Given the description of an element on the screen output the (x, y) to click on. 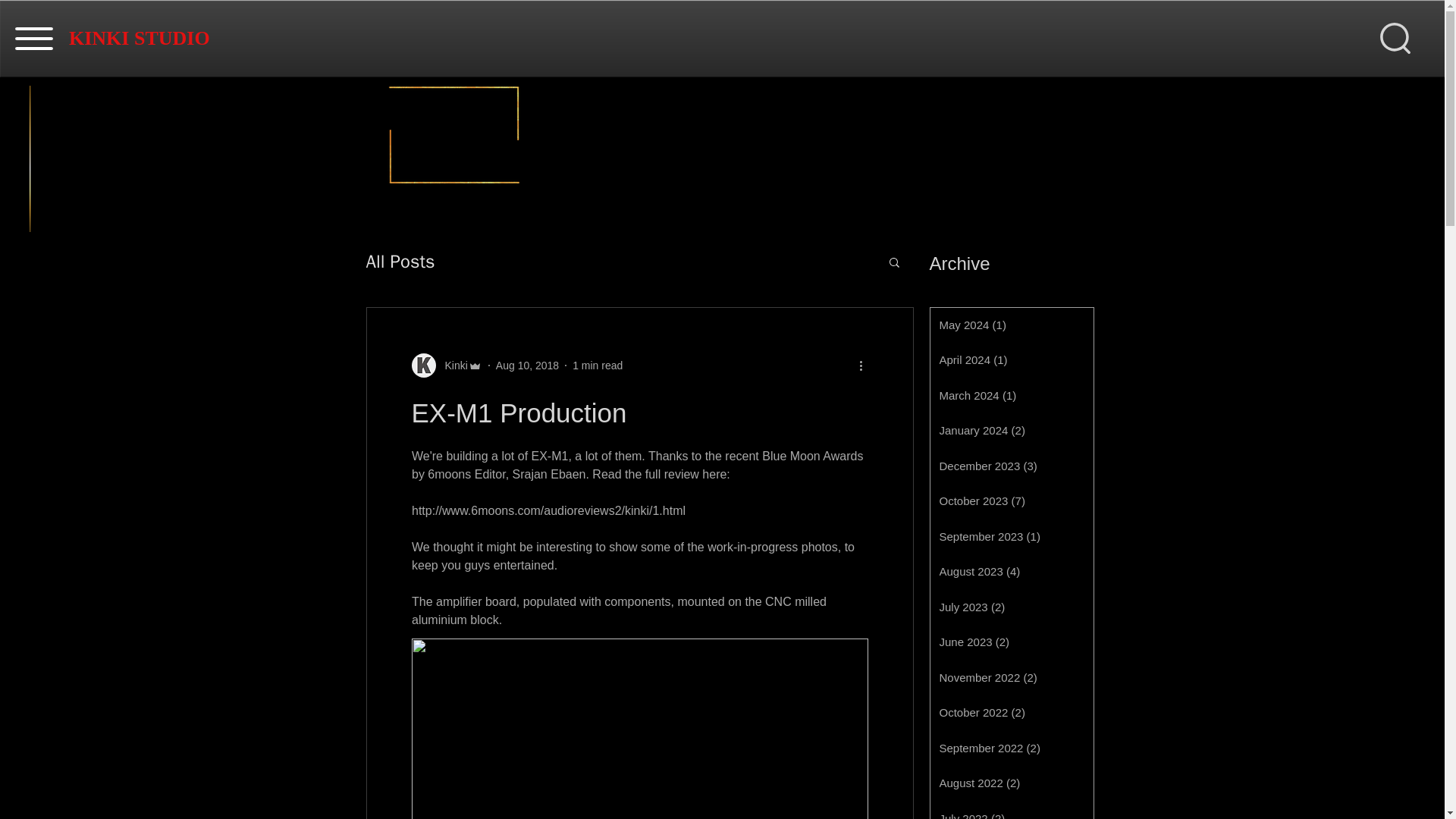
Kinki (451, 365)
Kinki (445, 364)
Aug 10, 2018 (527, 365)
All Posts (399, 261)
KINKI STUDIO (138, 37)
1 min read (597, 365)
